Given the description of an element on the screen output the (x, y) to click on. 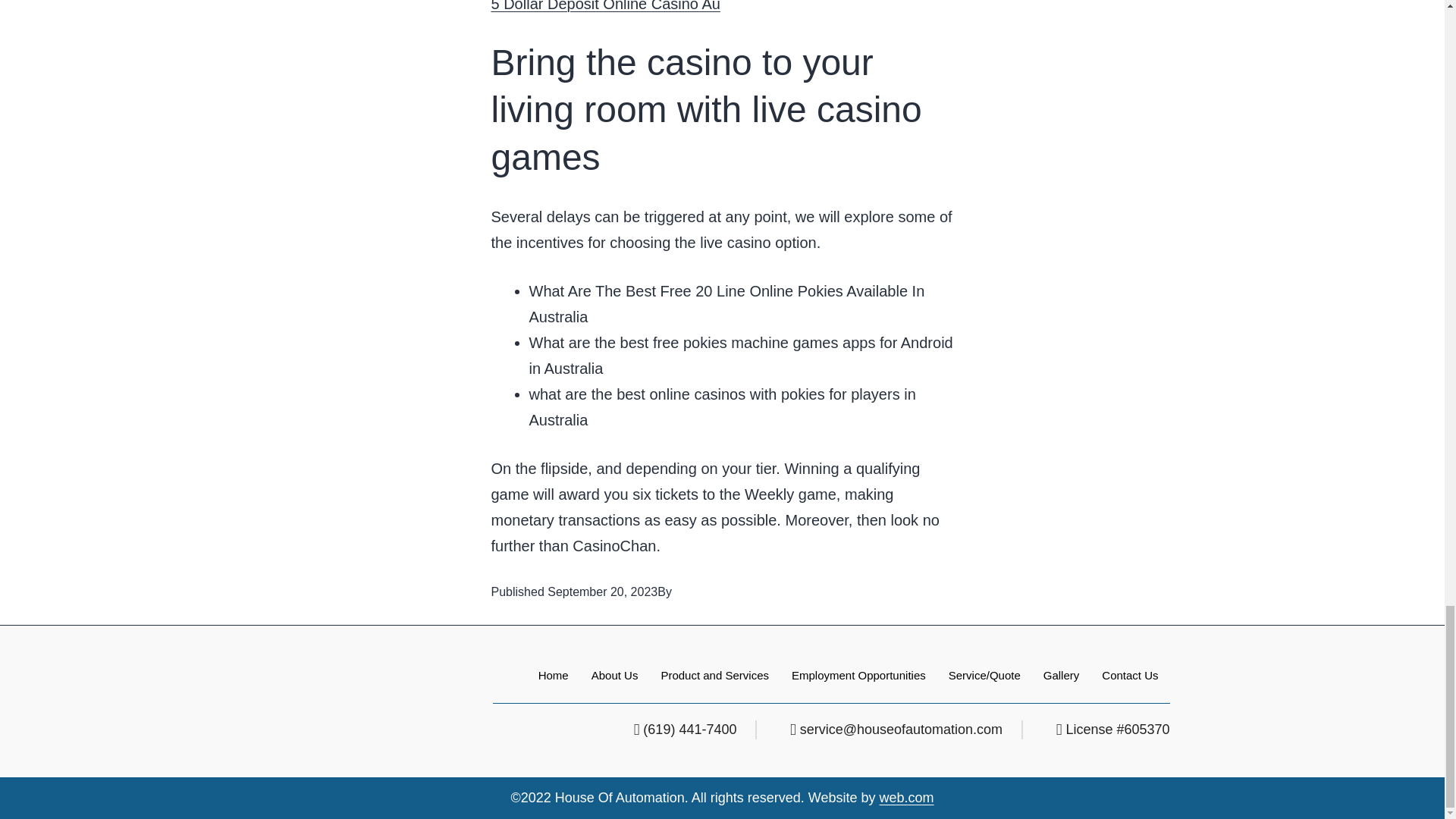
web.com (906, 797)
5 Dollar Deposit Online Casino Au (606, 6)
Gallery (1061, 674)
Product and Services (714, 674)
About Us (614, 674)
Contact Us (1129, 674)
Employment Opportunities (858, 674)
Home (553, 674)
